Given the description of an element on the screen output the (x, y) to click on. 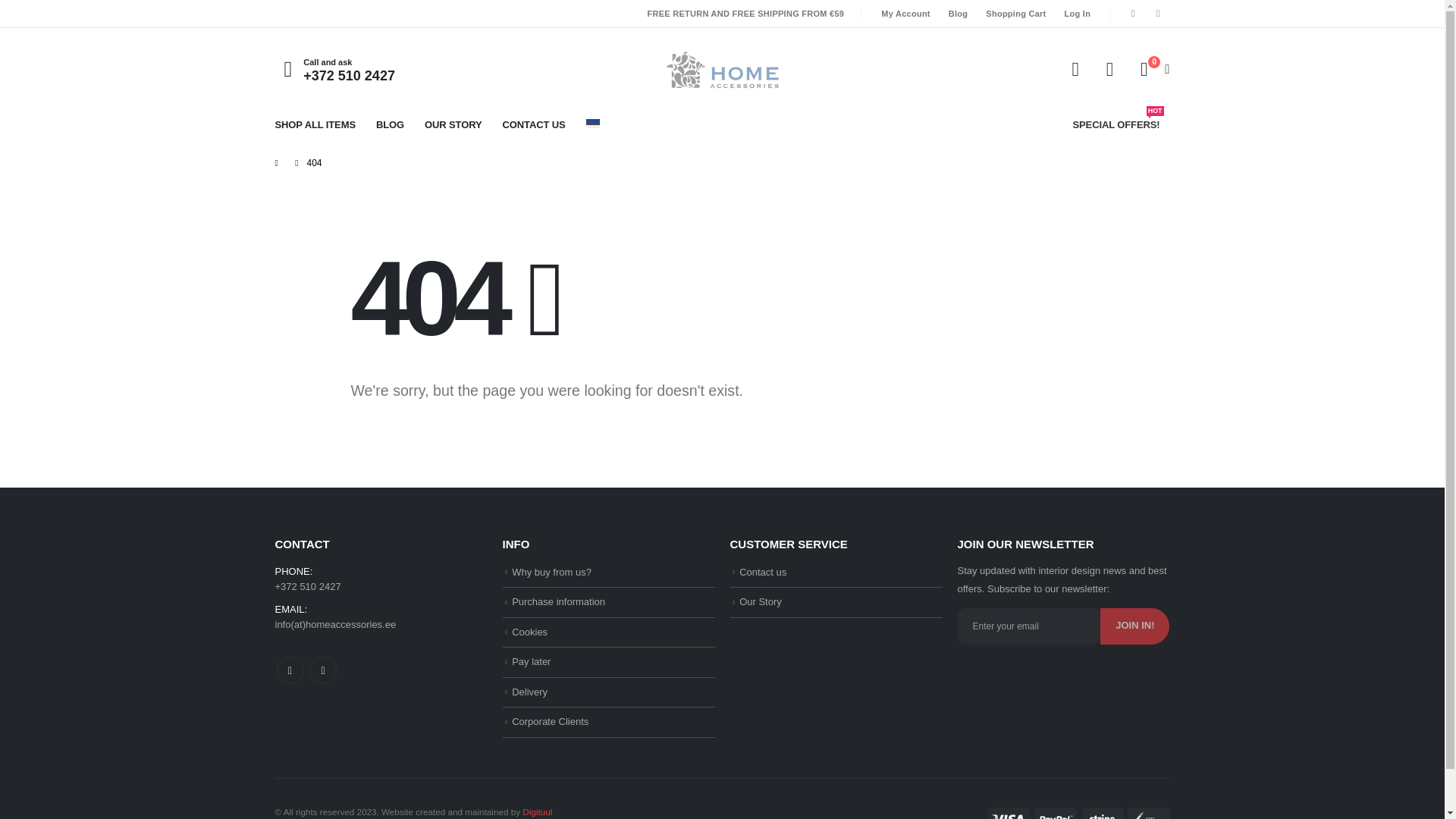
My Account (1075, 69)
Purchase information (558, 601)
Join in! (1134, 626)
Instagram (1158, 13)
Contact us (762, 572)
Shopping Cart (1015, 13)
Instagram (322, 669)
Pay later (531, 661)
Digituul (536, 811)
